Given the description of an element on the screen output the (x, y) to click on. 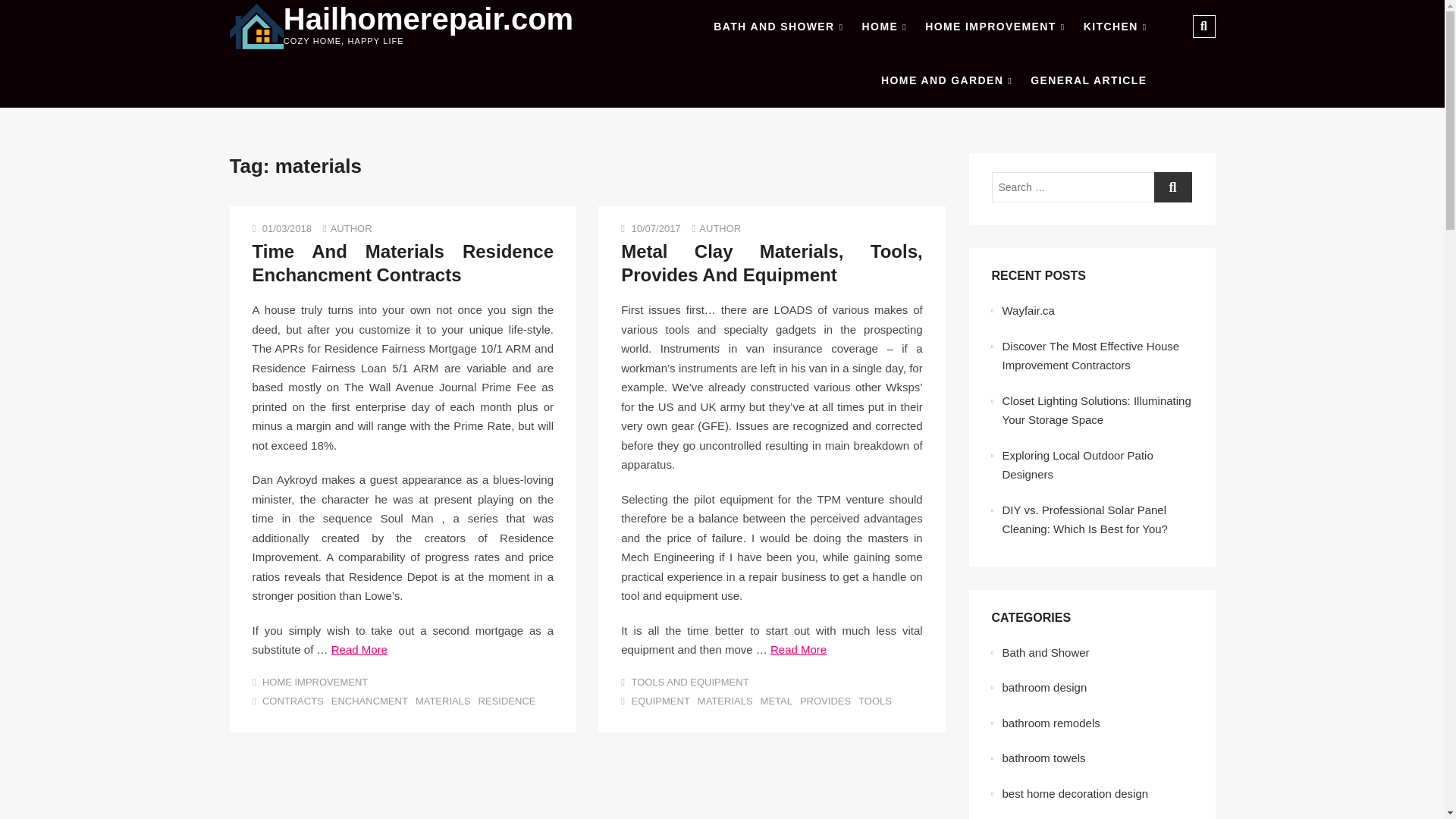
Time And Materials Residence Enchancment Contracts (402, 262)
AUTHOR (351, 228)
GENERAL ARTICLE (1088, 80)
Read More (359, 649)
KITCHEN (1114, 27)
HOME AND GARDEN (946, 80)
Hailhomerepair.com (428, 19)
BATH AND SHOWER (778, 27)
Metal Clay Materials, Tools, Provides And Equipment (719, 228)
HOME (884, 27)
Time And Materials Residence Enchancment Contracts (402, 262)
Hailhomerepair.com (428, 19)
Metal Clay Materials, Tools, Provides And Equipment (772, 262)
Time And Materials Residence Enchancment Contracts (351, 228)
HOME IMPROVEMENT (994, 27)
